Given the description of an element on the screen output the (x, y) to click on. 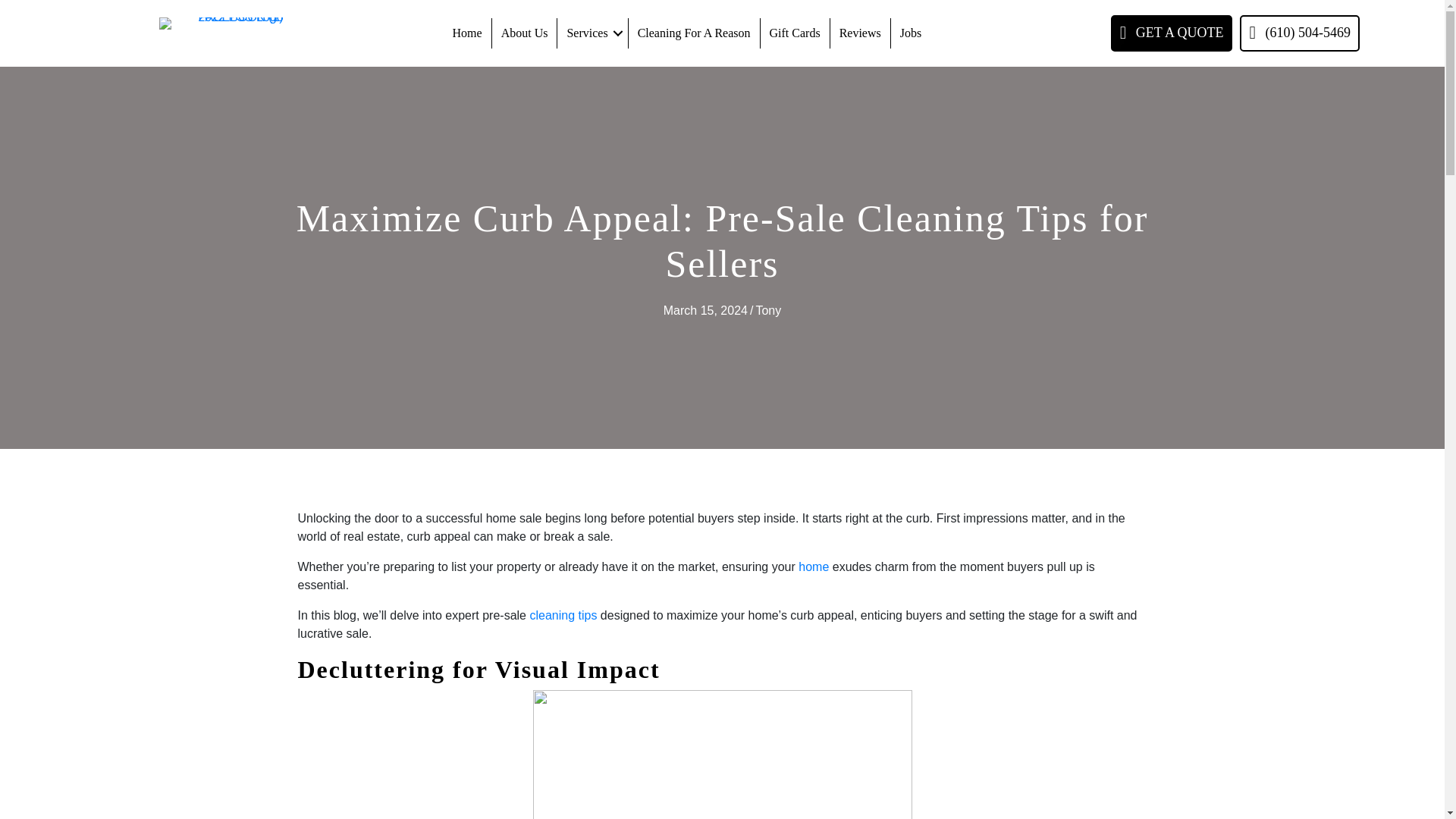
GET A QUOTE (1171, 33)
Jobs (910, 33)
Reviews (859, 33)
Jobs (910, 33)
About Us (524, 33)
HOME (468, 33)
Gift Cards (794, 33)
cleaning tips (562, 615)
Gift Cards (794, 33)
Cleaning For A Reason (694, 33)
About Platnum Star Services (524, 33)
Reviews (859, 33)
Tony (767, 309)
Home (468, 33)
Cleaning Services (592, 33)
